Given the description of an element on the screen output the (x, y) to click on. 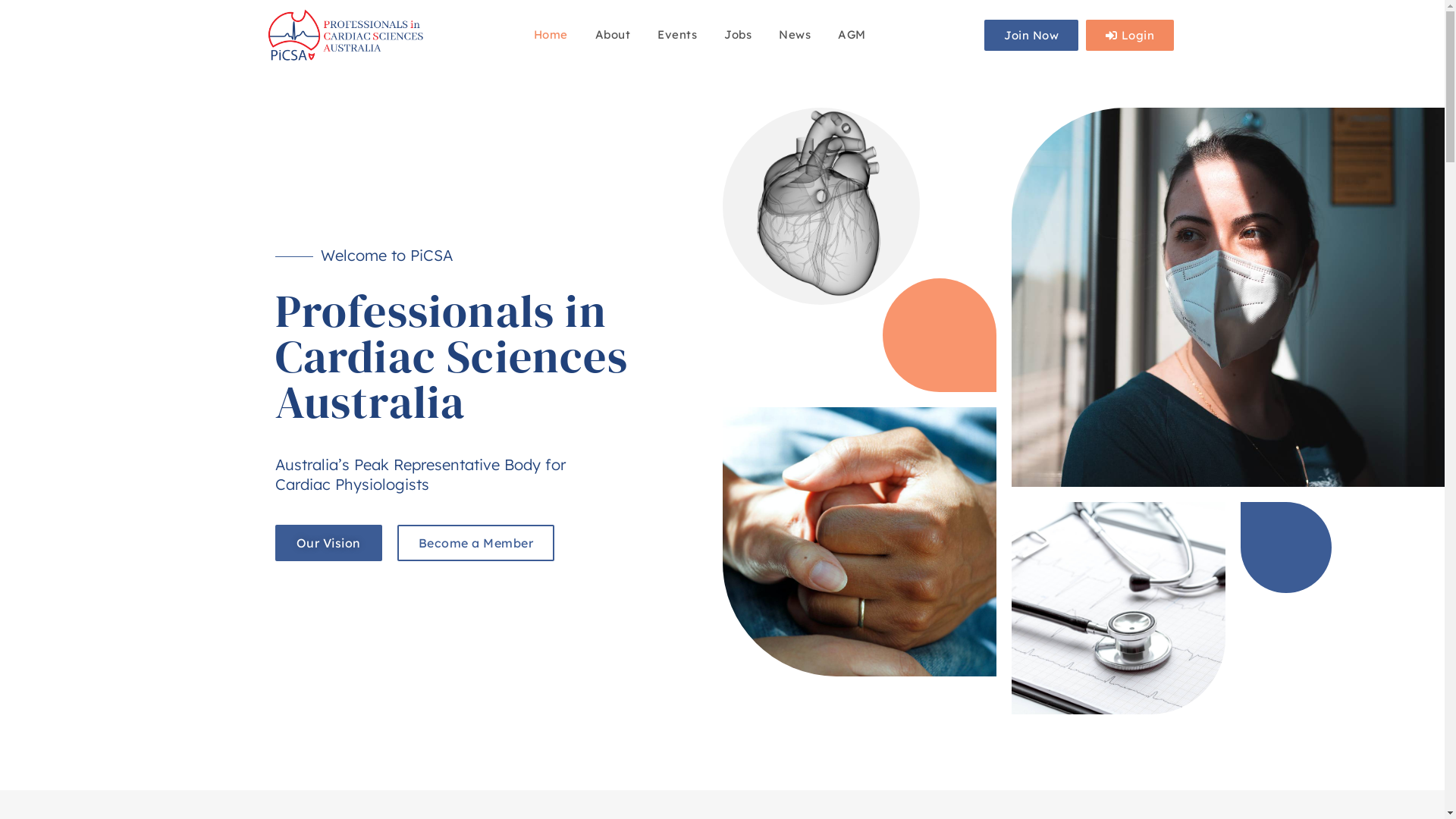
About Element type: text (611, 34)
AGM Element type: text (851, 34)
Home Element type: text (550, 34)
Login Element type: text (1129, 34)
Become a Member Element type: text (476, 542)
Our Vision Element type: text (327, 542)
Events Element type: text (676, 34)
News Element type: text (794, 34)
Join Now Element type: text (1031, 34)
Jobs Element type: text (737, 34)
